Given the description of an element on the screen output the (x, y) to click on. 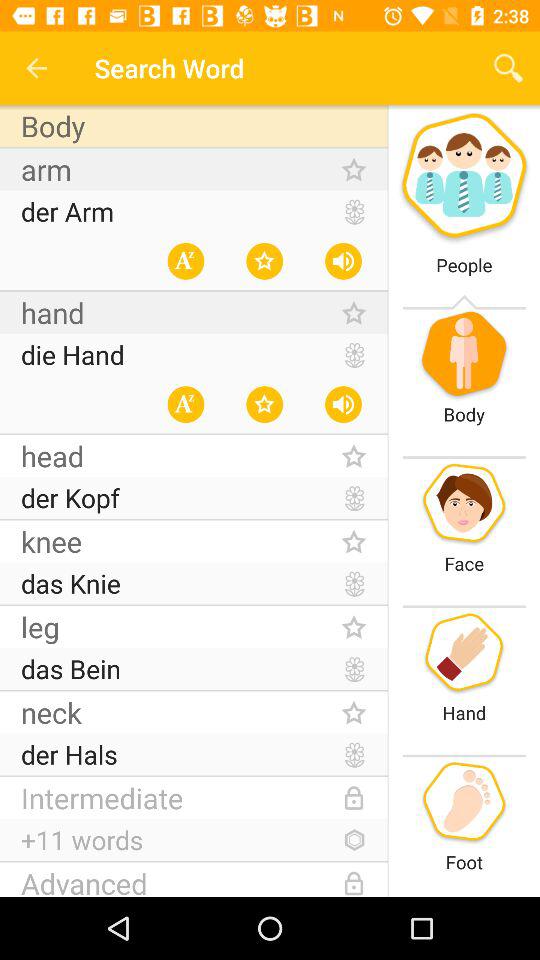
click on the image above people (464, 178)
click on volume icon at the left side of body (343, 404)
